Given the description of an element on the screen output the (x, y) to click on. 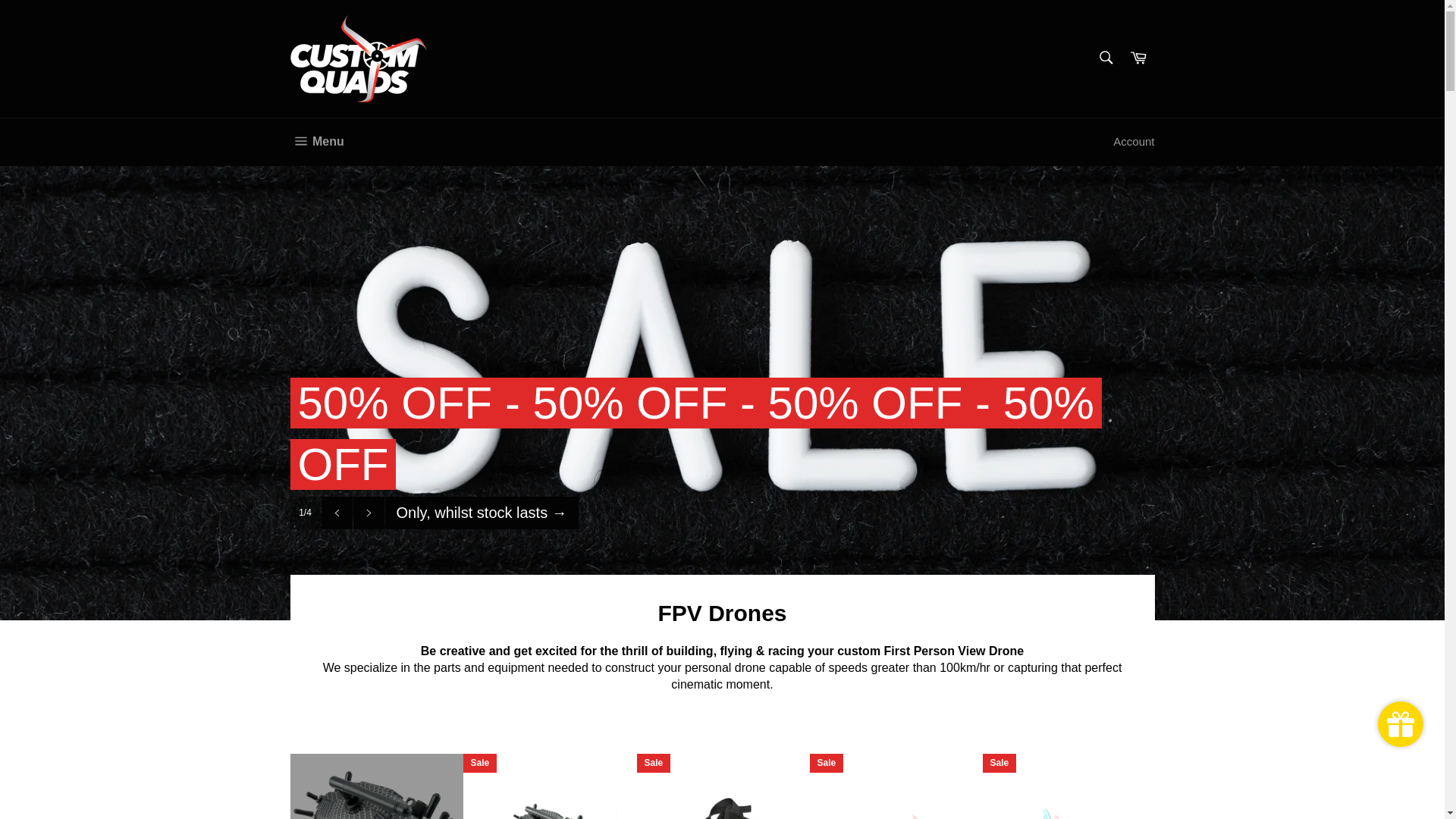
Account Element type: text (1133, 142)
Cart Element type: text (1138, 58)
Next slide Element type: text (368, 512)
Search Element type: text (1105, 57)
Menu
Site navigation Element type: text (316, 142)
Previous slide Element type: text (336, 512)
